Given the description of an element on the screen output the (x, y) to click on. 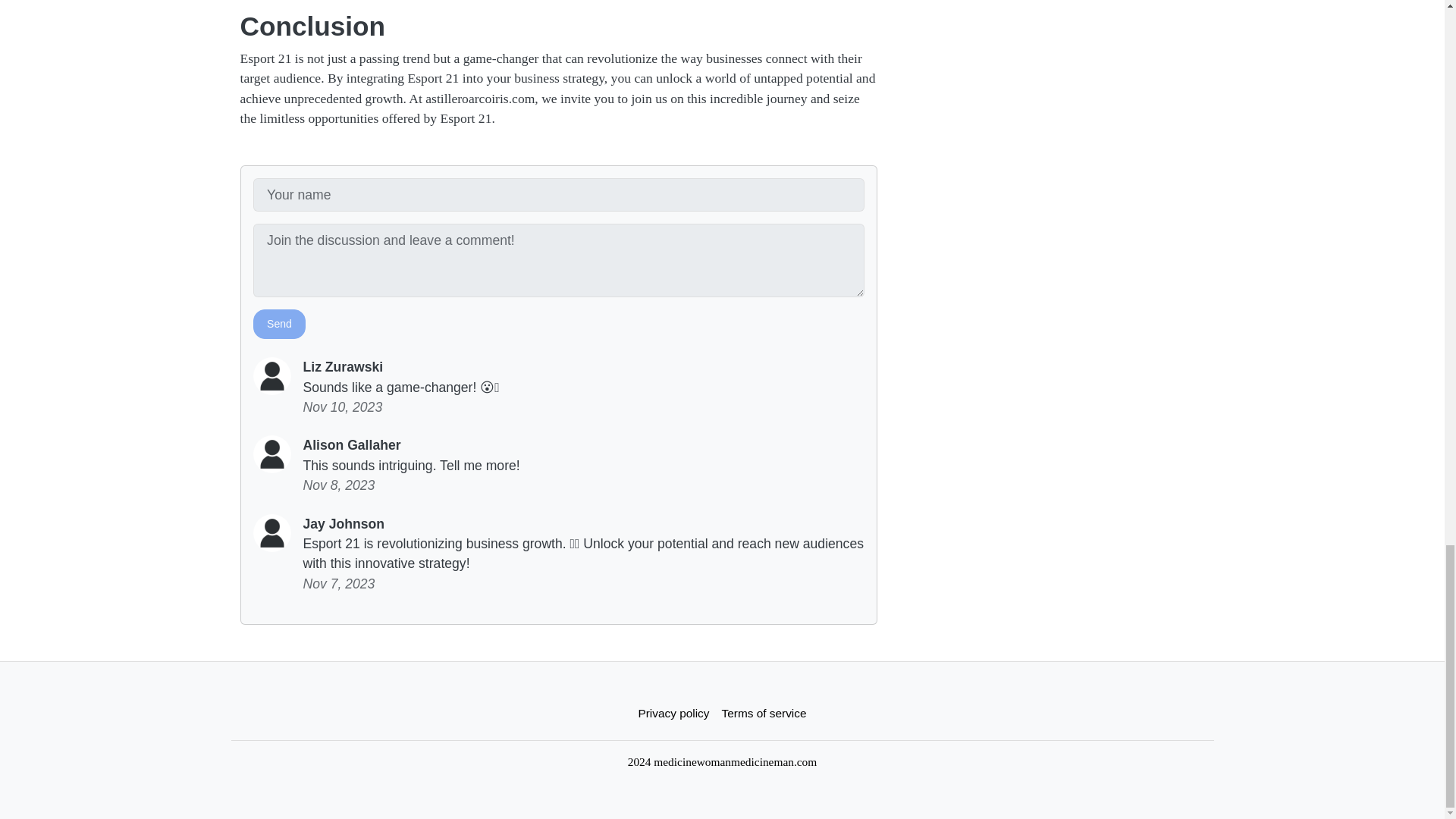
Terms of service (764, 713)
Send (279, 324)
Send (279, 324)
Privacy policy (672, 713)
